Given the description of an element on the screen output the (x, y) to click on. 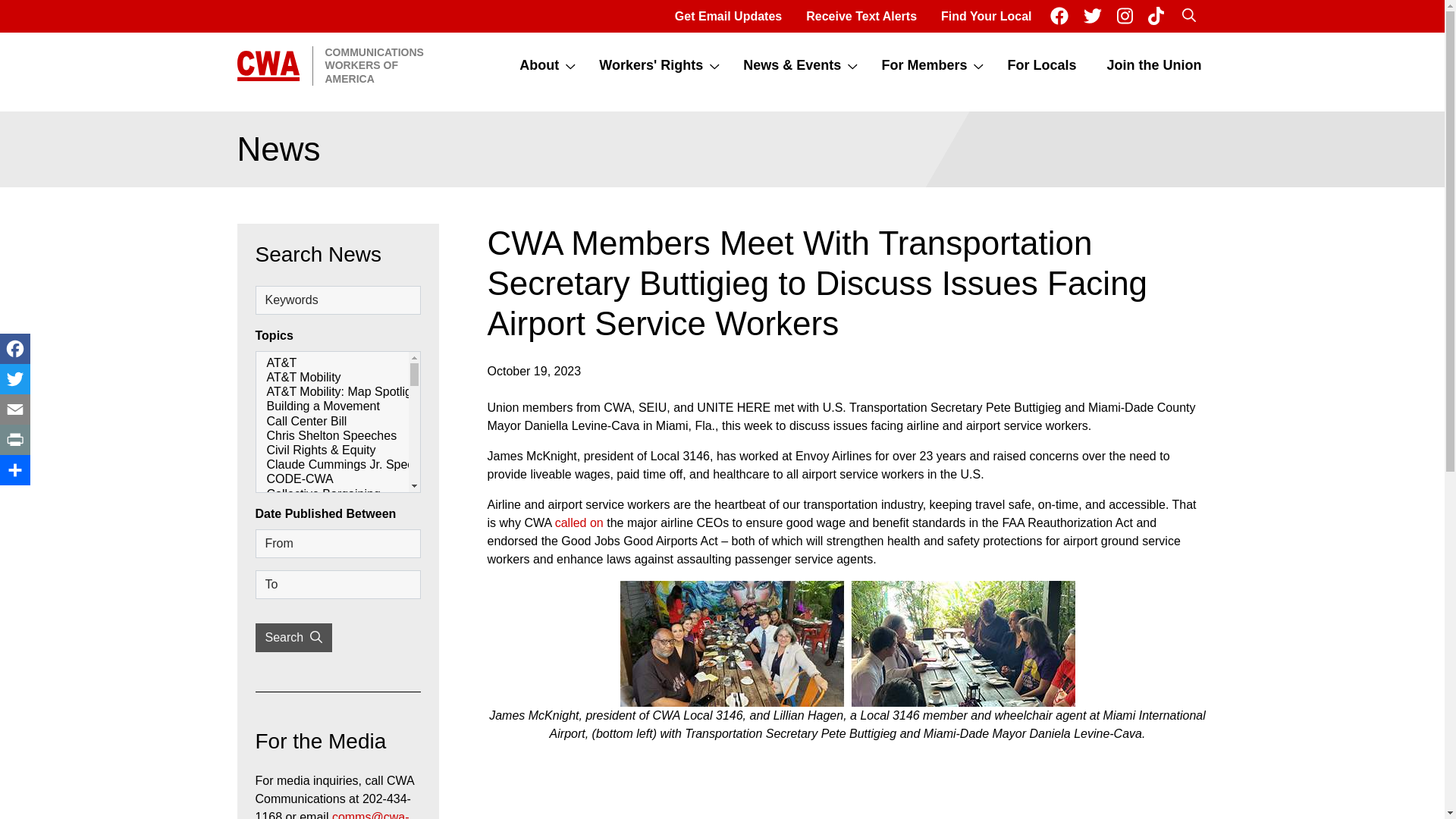
For Locals (1041, 65)
For Members (329, 65)
Search (922, 65)
Find Your Local (1188, 16)
Join the Union (985, 16)
Receive Text Alerts (1154, 65)
Get Email Updates (860, 16)
Workers' Rights (727, 16)
About (649, 65)
